Given the description of an element on the screen output the (x, y) to click on. 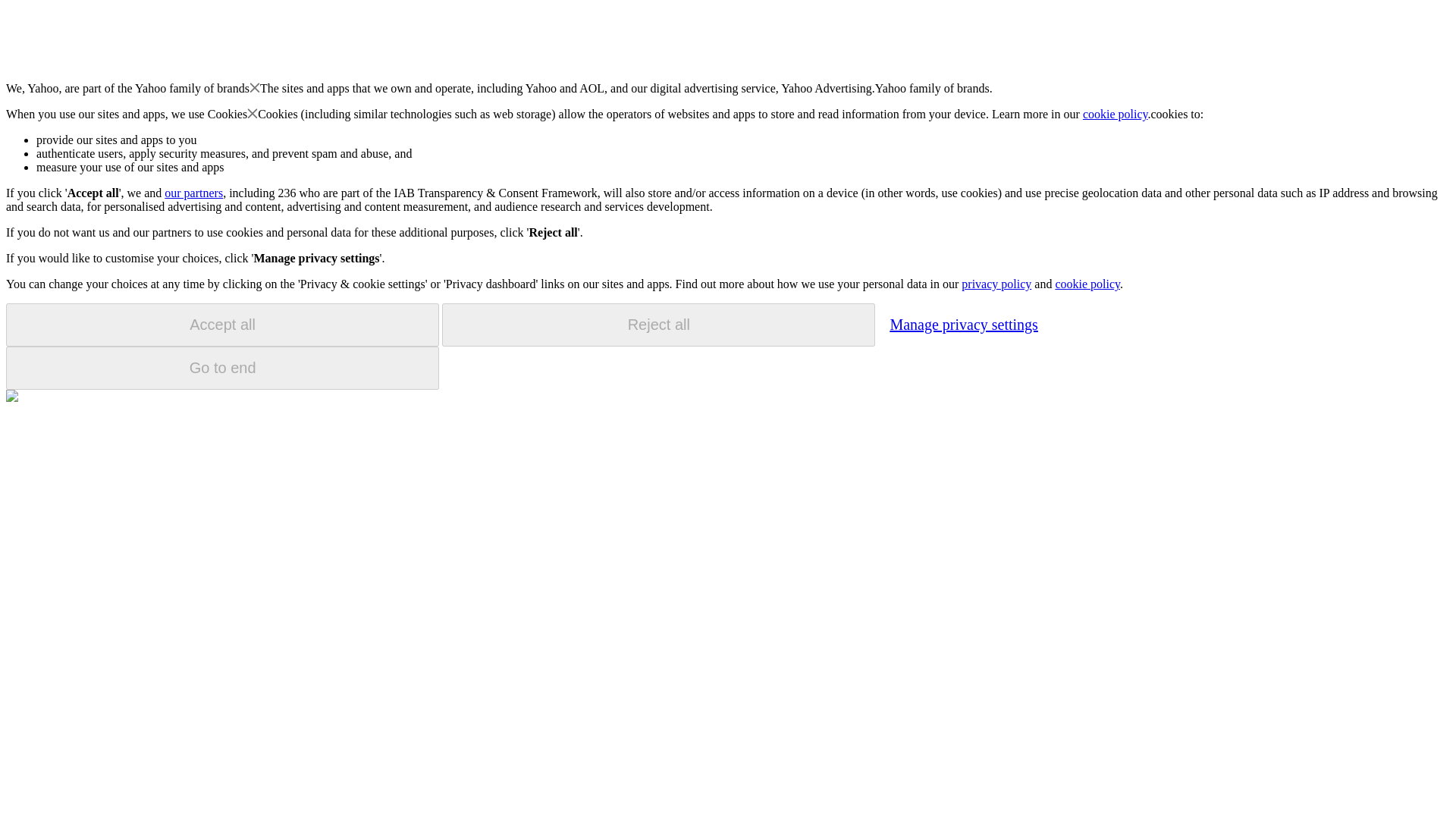
Manage privacy settings (963, 323)
Accept all (222, 324)
our partners (193, 192)
cookie policy (1115, 113)
Go to end (222, 367)
Reject all (658, 324)
privacy policy (995, 283)
cookie policy (1086, 283)
